Given the description of an element on the screen output the (x, y) to click on. 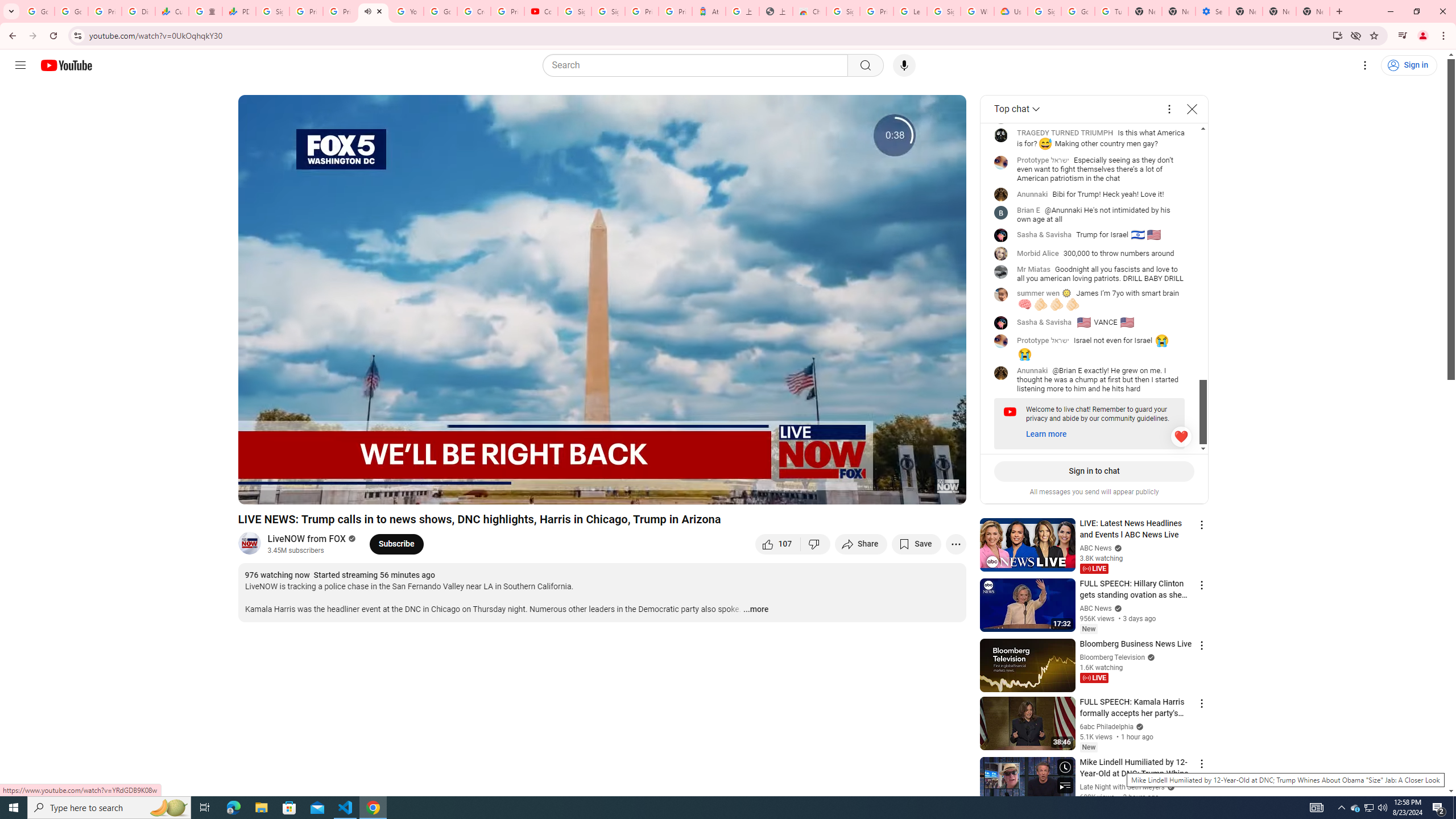
Miniplayer (i) (890, 490)
Sign in - Google Accounts (842, 11)
Subscribe to LiveNOW from FOX. (396, 543)
Sign in - Google Accounts (608, 11)
YouTube Home (66, 65)
Who are Google's partners? - Privacy and conditions - Google (976, 11)
